Given the description of an element on the screen output the (x, y) to click on. 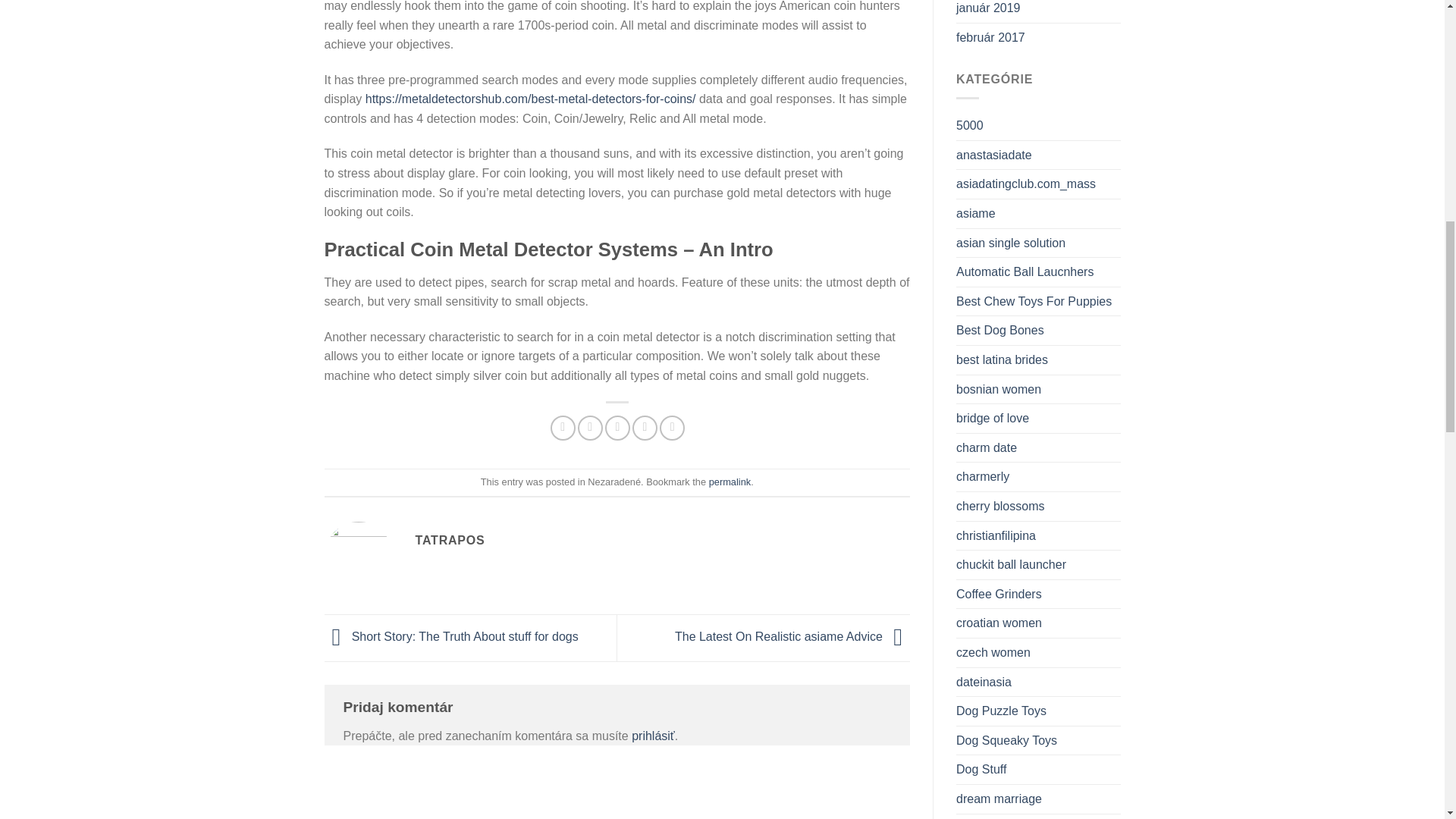
Short Story: The Truth About stuff for dogs (451, 635)
The Latest On Realistic asiame Advice (792, 635)
permalink (730, 481)
